Given the description of an element on the screen output the (x, y) to click on. 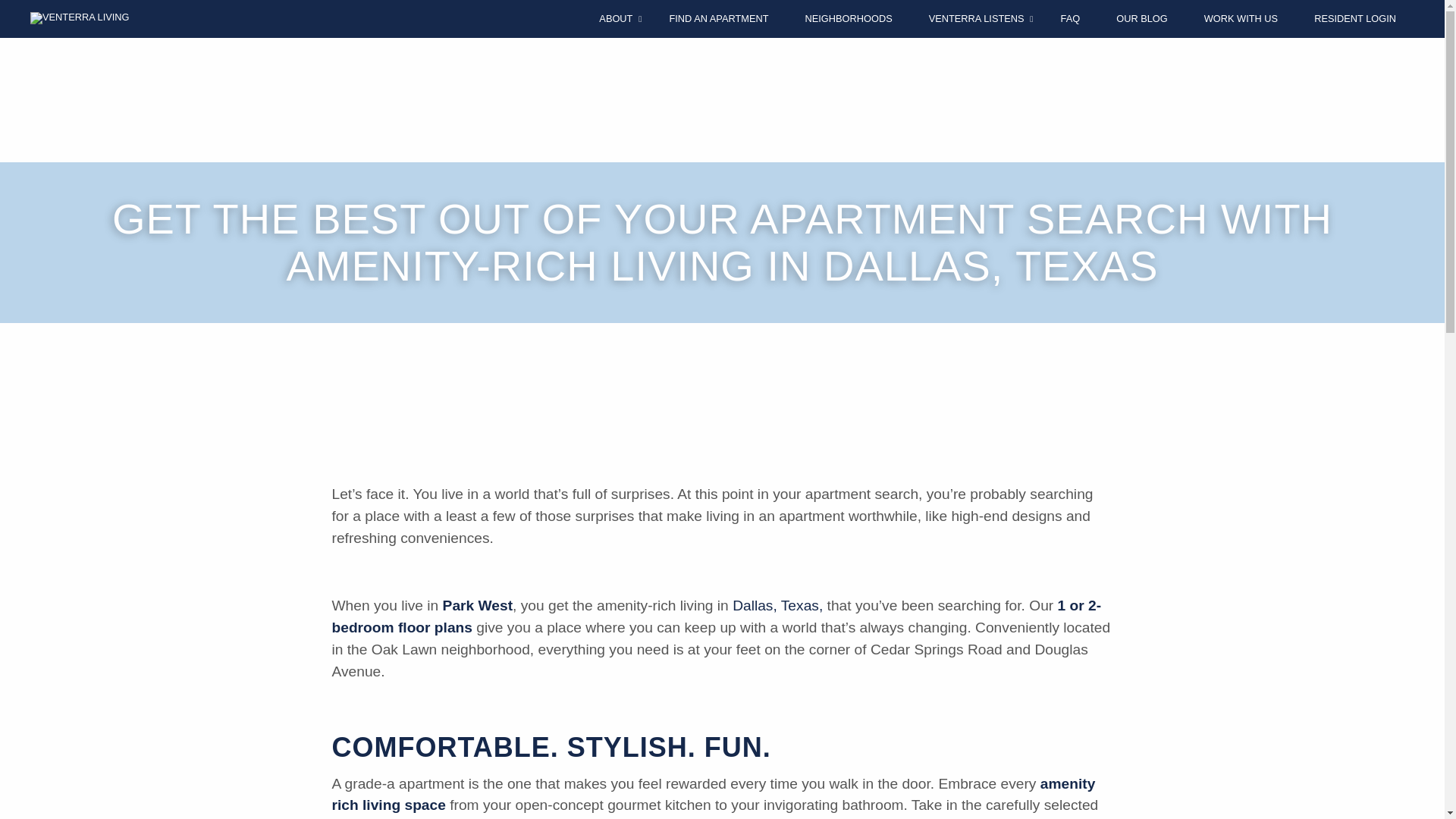
1 or 2-bedroom floor plans (716, 616)
NEIGHBORHOODS (848, 18)
Dallas, Texas, (777, 605)
Park West (477, 605)
amenity rich living space (713, 794)
FIND AN APARTMENT (718, 18)
OUR BLOG (1141, 18)
RESIDENT LOGIN (1355, 18)
VENTERRA LISTENS (976, 18)
WORK WITH US (1241, 18)
